Given the description of an element on the screen output the (x, y) to click on. 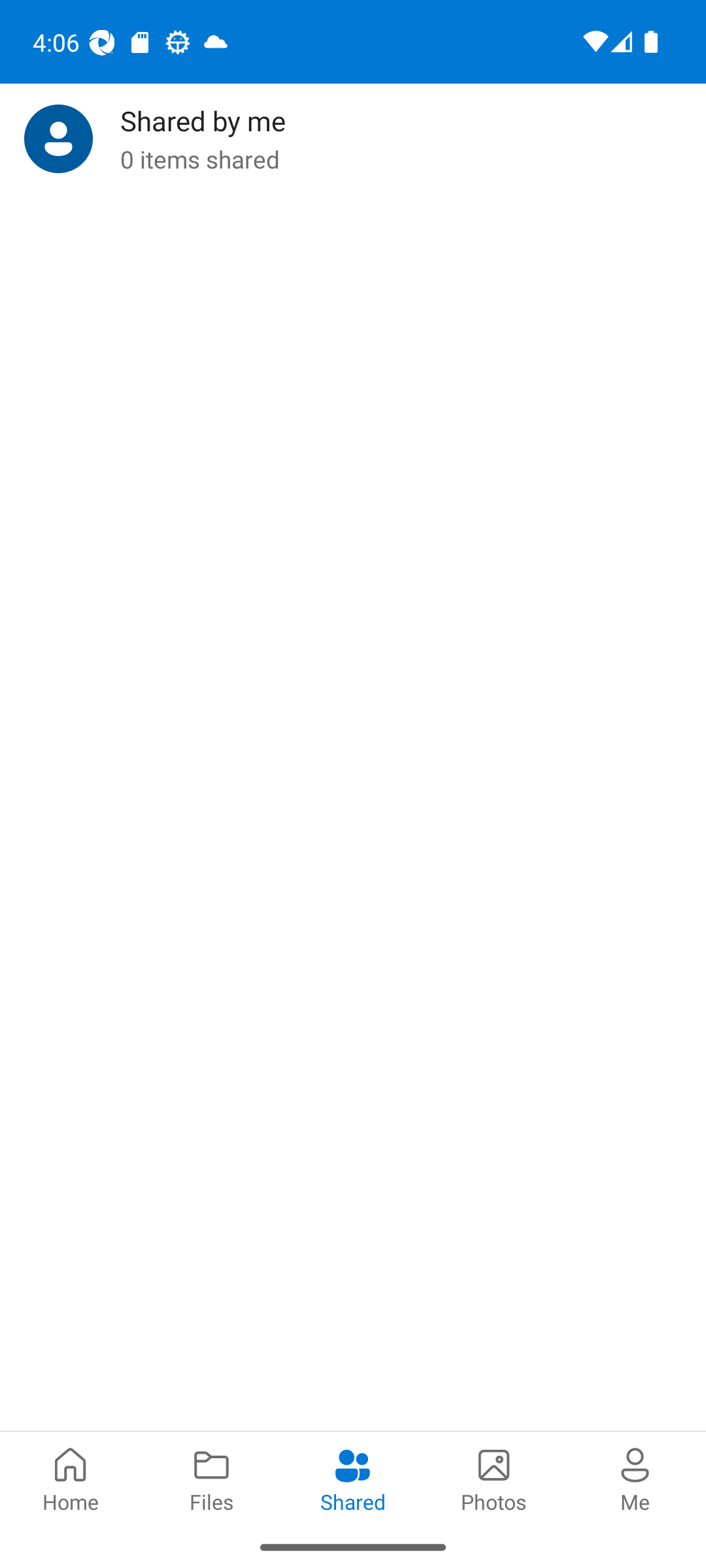
0 Shared by me 0 items shared (353, 138)
Home pivot Home (70, 1478)
Files pivot Files (211, 1478)
Photos pivot Photos (493, 1478)
Me pivot Me (635, 1478)
